Given the description of an element on the screen output the (x, y) to click on. 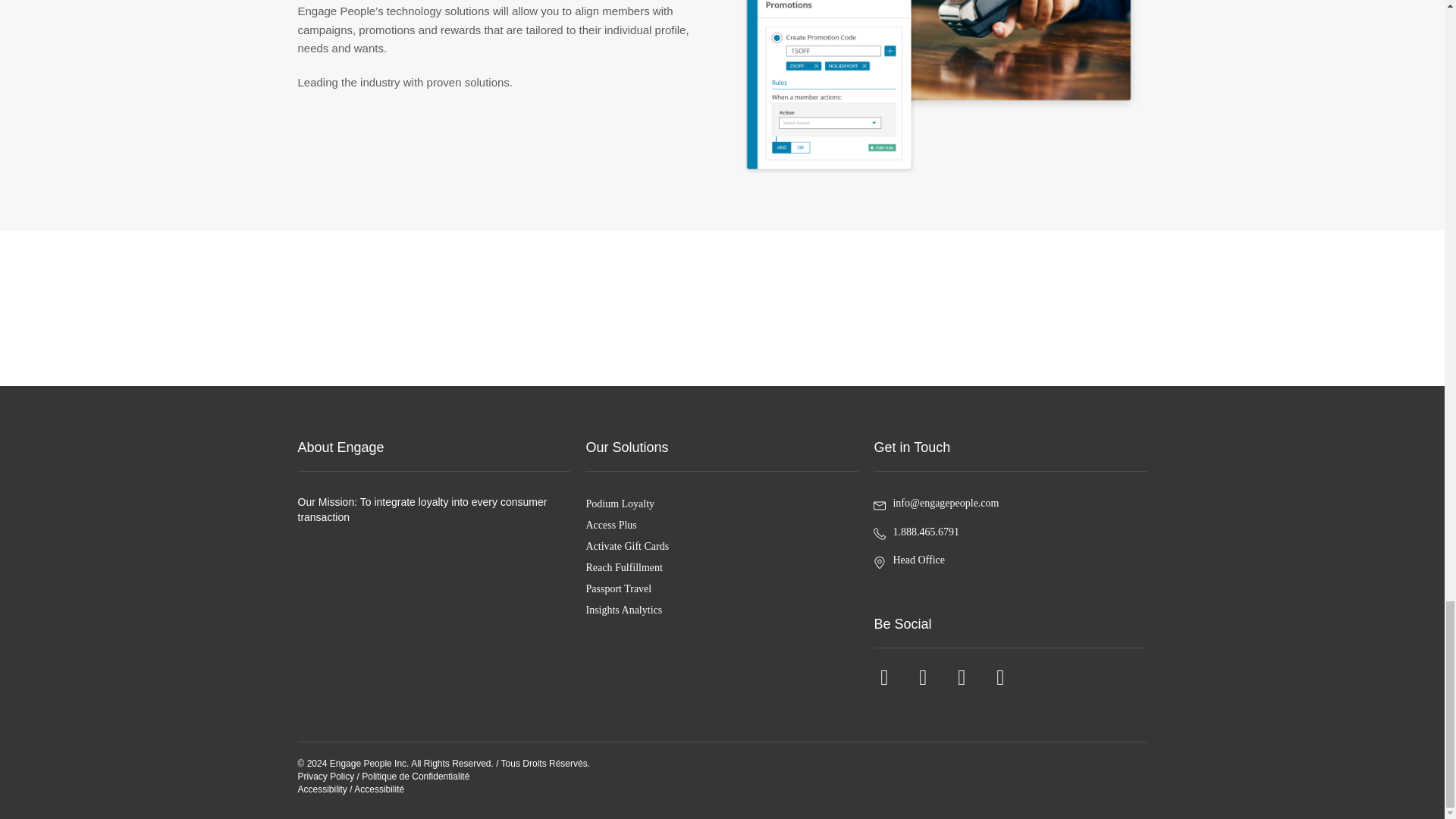
Podium Loyalty (722, 503)
Access Plus (722, 525)
Activate Gift Cards (722, 546)
